Given the description of an element on the screen output the (x, y) to click on. 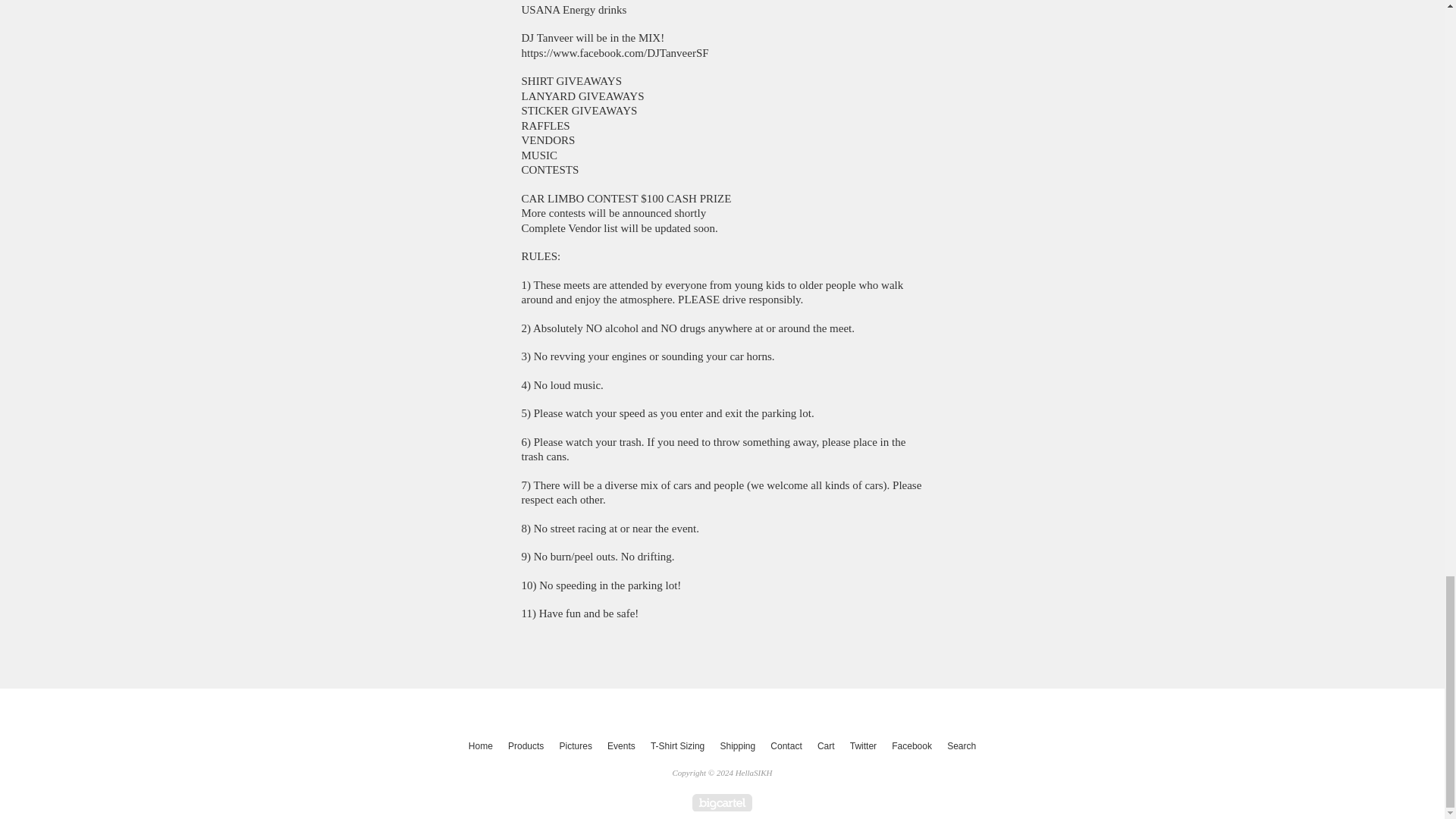
Contact (786, 746)
Facebook (911, 746)
Follow us on Twitter (863, 746)
Powered by Big Cartel (722, 802)
T-Shirt Sizing (677, 746)
Search (960, 746)
Cart (825, 746)
Products (526, 746)
Home (481, 746)
Twitter (863, 746)
View Events (621, 746)
View Shipping (737, 746)
View T-Shirt Sizing  (677, 746)
Pictures (575, 746)
View Pictures (575, 746)
